Given the description of an element on the screen output the (x, y) to click on. 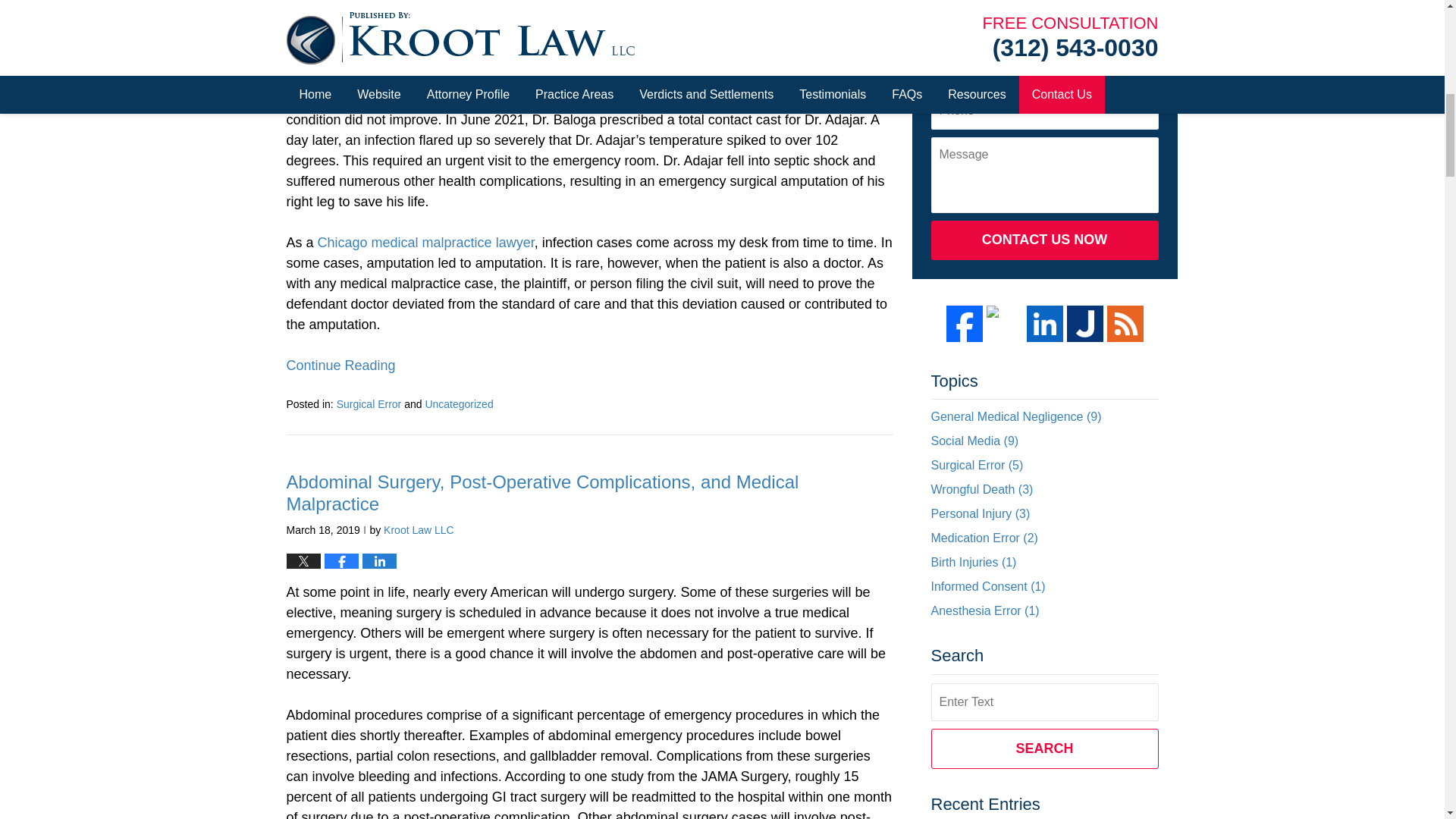
Chicago medical malpractice lawyer (425, 242)
Continue Reading (341, 365)
Kroot Law LLC (419, 530)
Surgical Error (368, 404)
Continue Reading Doctor Sues Doctor for Medical Malpractice (341, 365)
Uncategorized (459, 404)
View all posts in Uncategorized (459, 404)
View all posts in Surgical Error (368, 404)
